Given the description of an element on the screen output the (x, y) to click on. 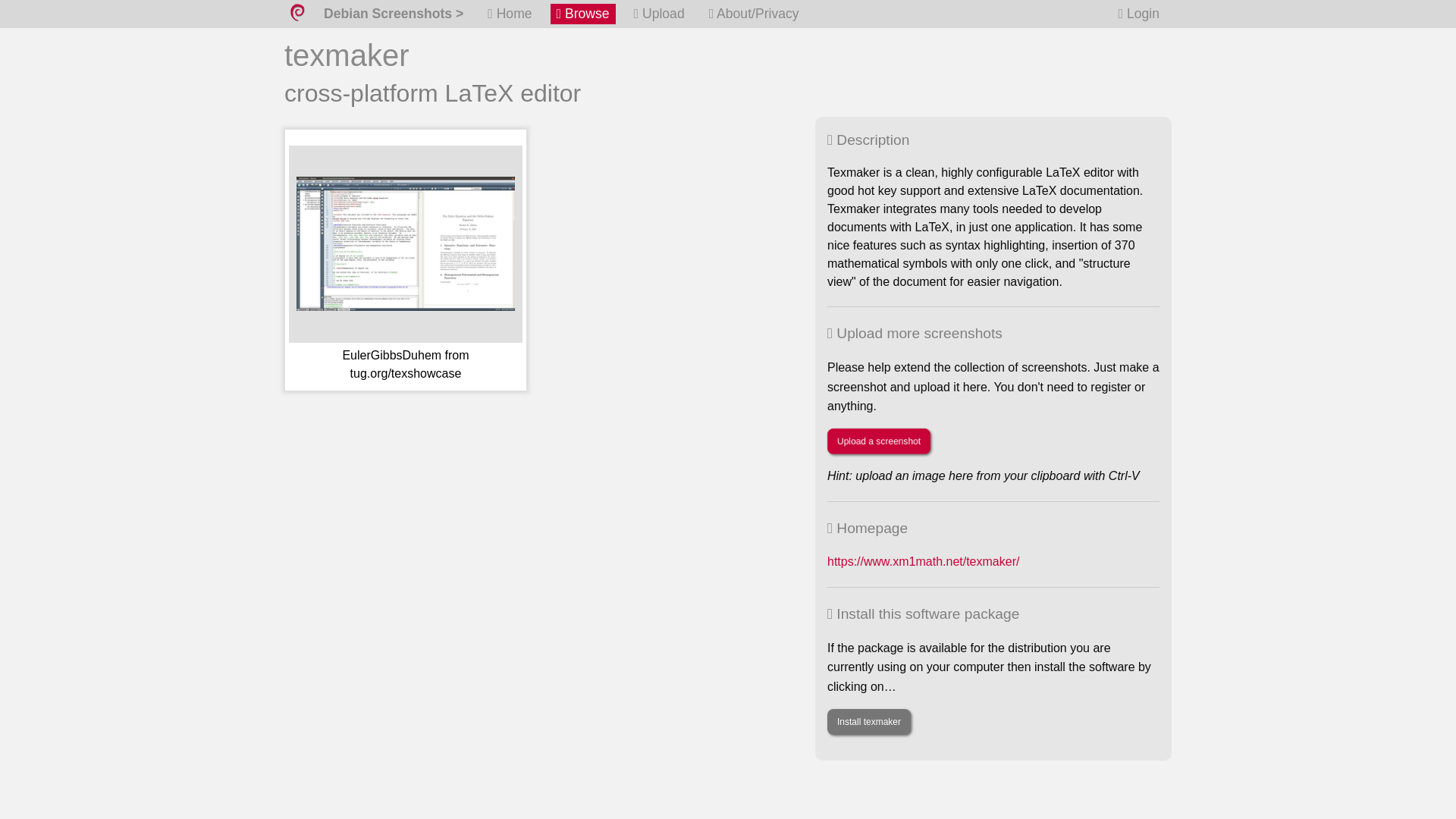
Upload (658, 14)
Login (1139, 14)
Home (509, 14)
Browse (582, 14)
Upload a screenshot (878, 441)
Install texmaker (869, 721)
